Given the description of an element on the screen output the (x, y) to click on. 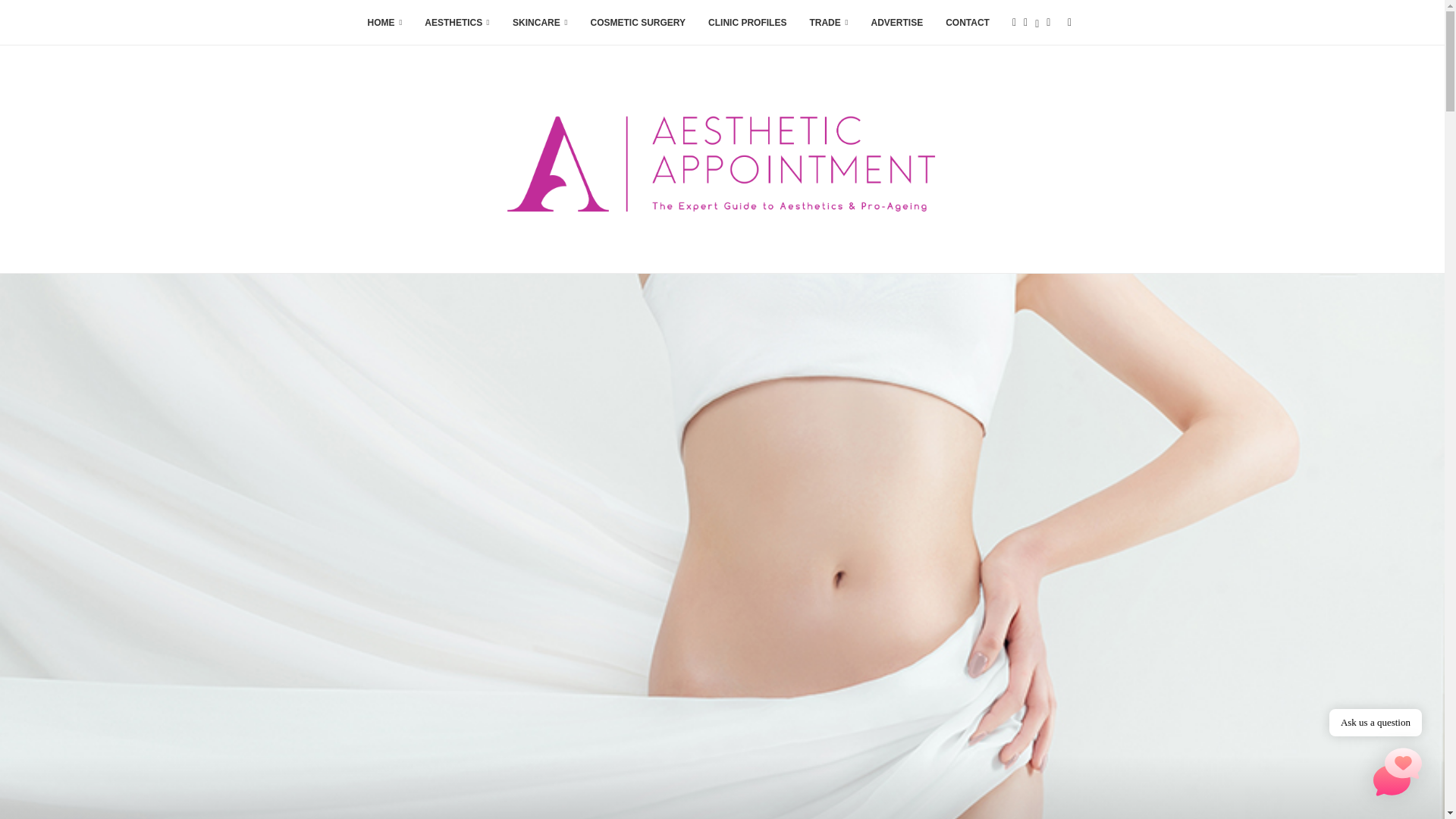
COSMETIC SURGERY (637, 22)
AESTHETICS (457, 22)
CLINIC PROFILES (746, 22)
ADVERTISE (896, 22)
SKINCARE (539, 22)
CONTACT (967, 22)
